Given the description of an element on the screen output the (x, y) to click on. 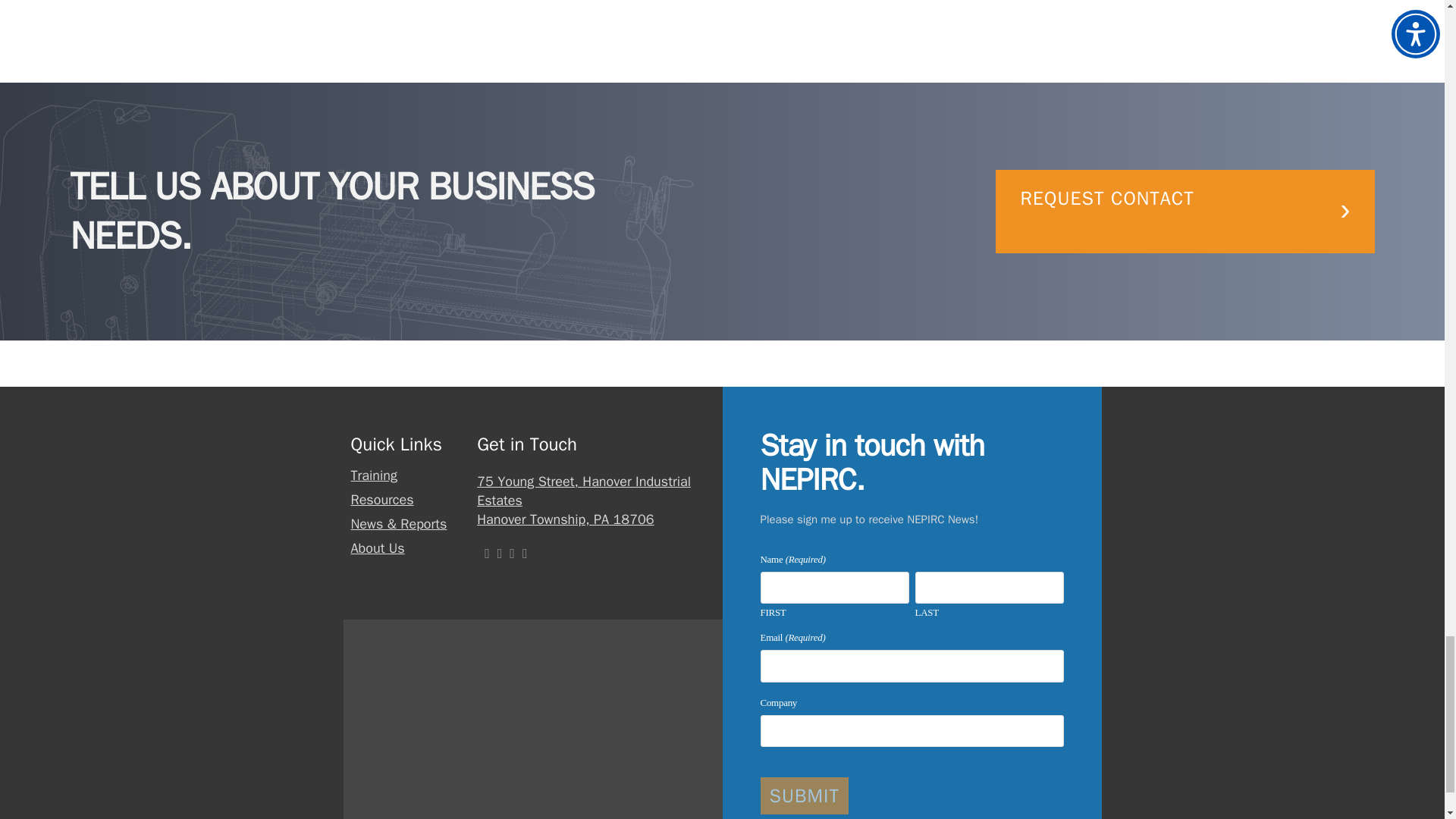
Submit (803, 795)
